Given the description of an element on the screen output the (x, y) to click on. 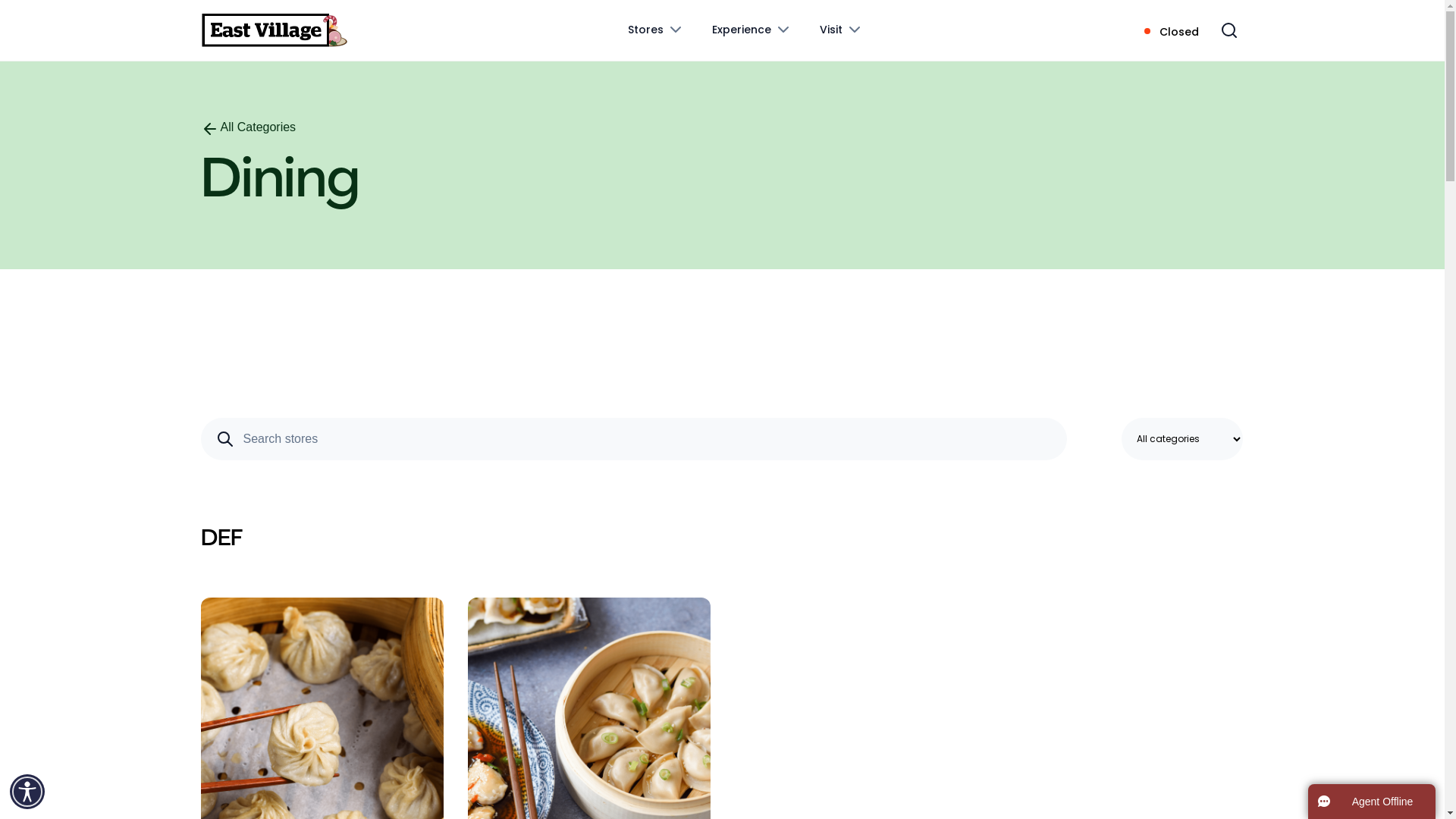
Stores Element type: text (655, 30)
All Categories Element type: text (247, 127)
Visit Element type: text (841, 30)
Experience Element type: text (752, 30)
All Categories Element type: text (247, 130)
